Given the description of an element on the screen output the (x, y) to click on. 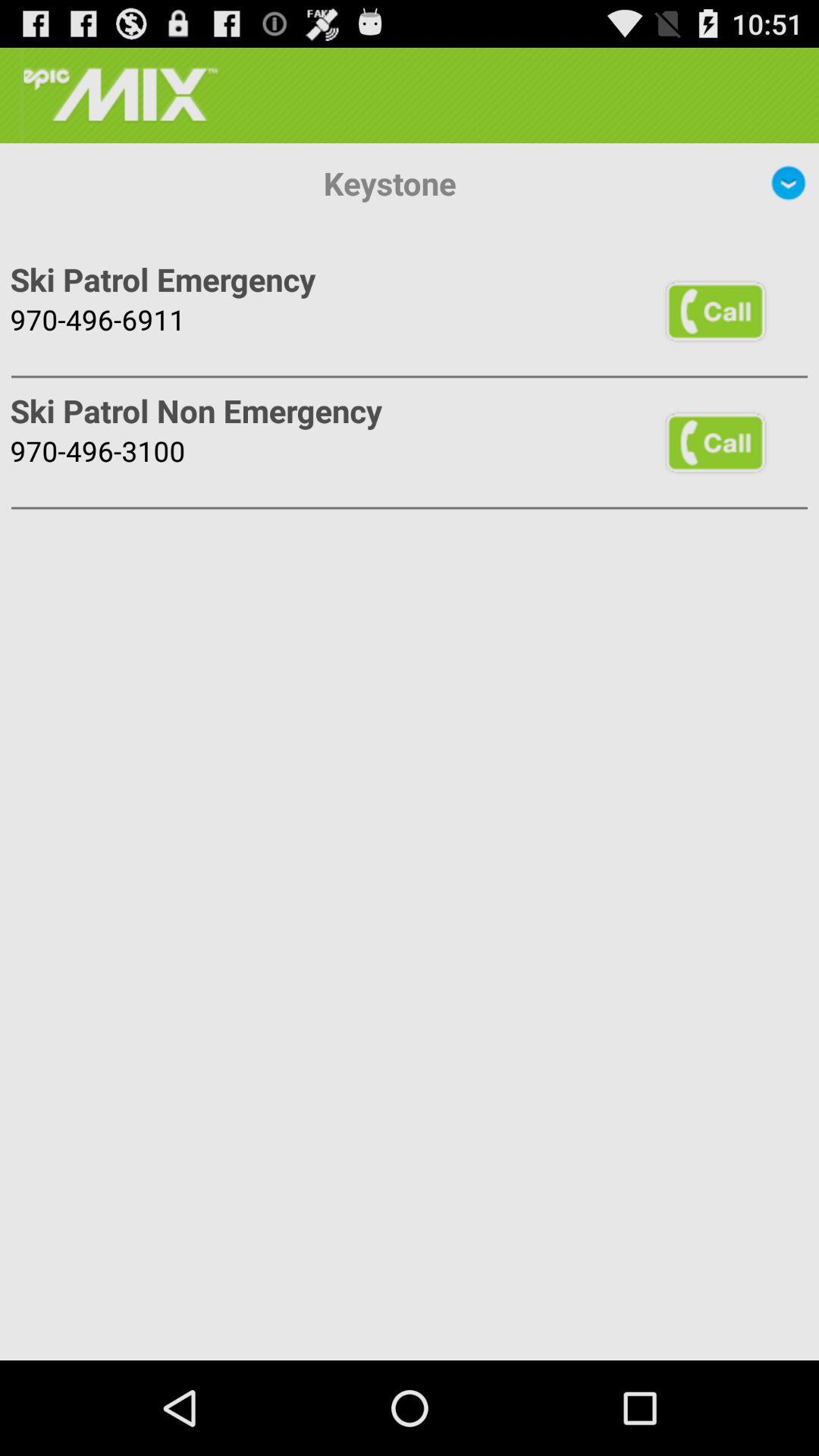
choose item next to ski patrol non (714, 442)
